Given the description of an element on the screen output the (x, y) to click on. 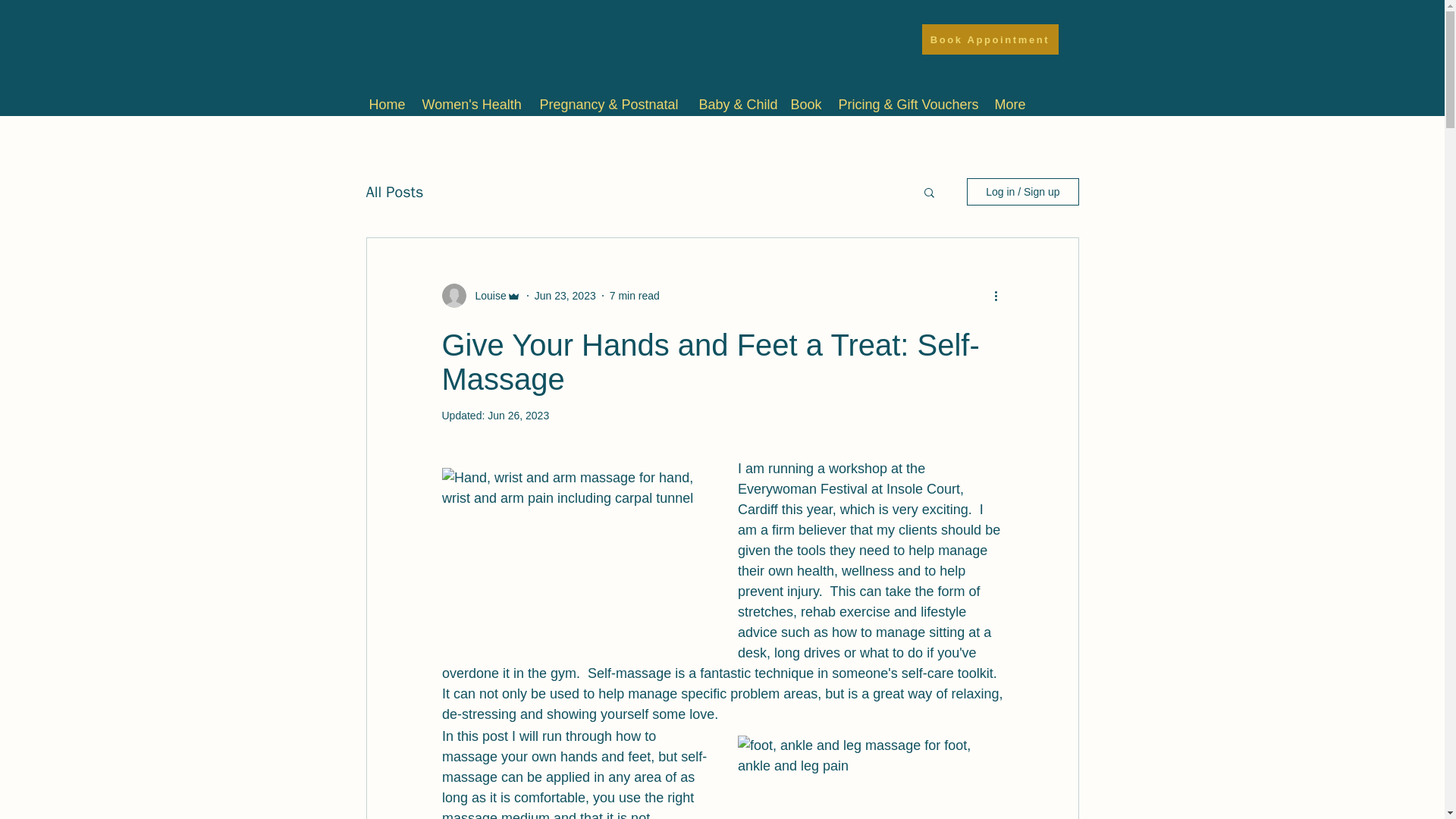
7 min read (634, 295)
Louise (485, 295)
Jun 26, 2023 (517, 415)
All Posts (394, 191)
Home (387, 104)
Book Appointment (989, 39)
Jun 23, 2023 (564, 295)
Women's Health (472, 104)
Book (806, 104)
